Given the description of an element on the screen output the (x, y) to click on. 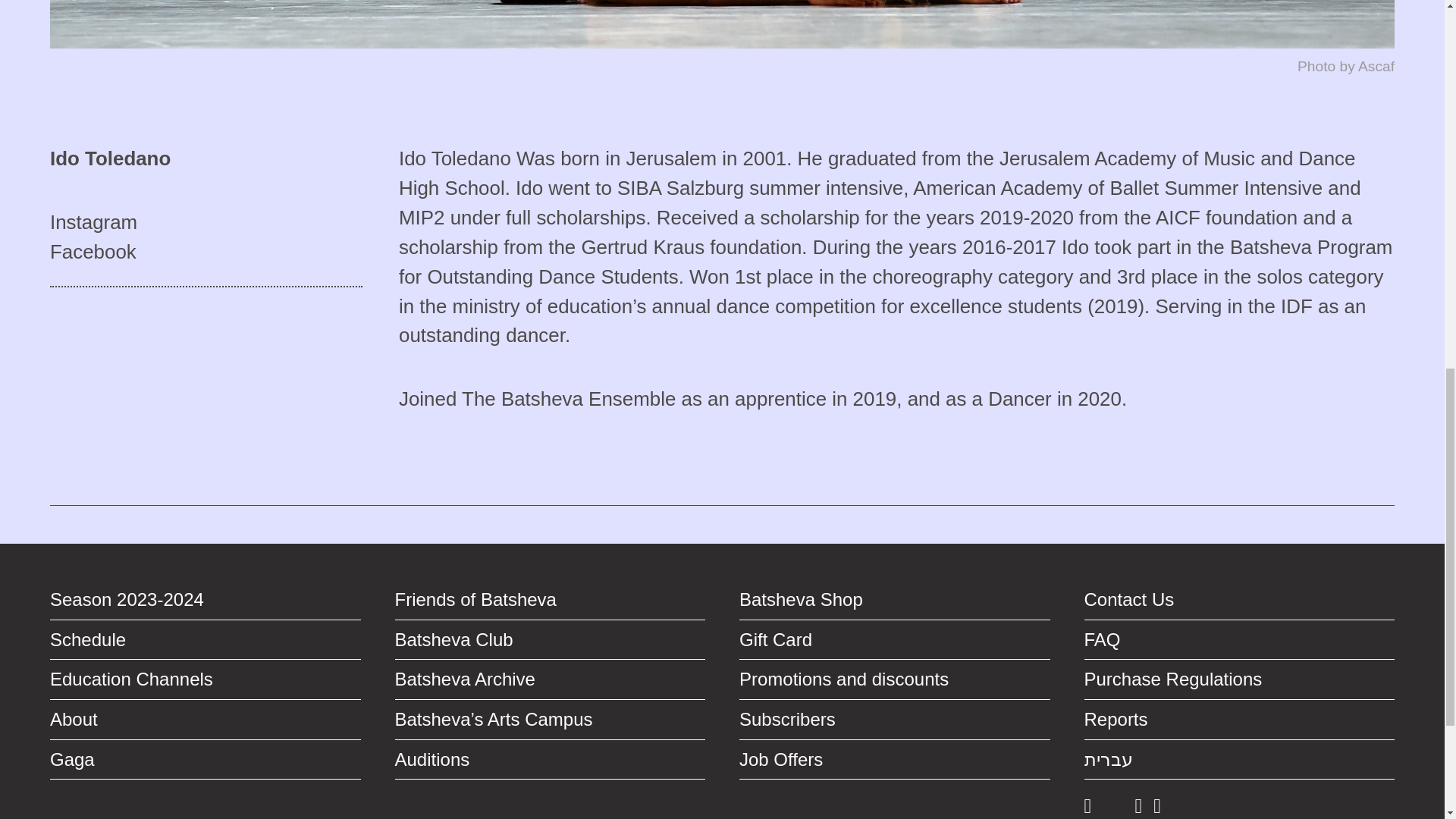
Facebook (205, 251)
Season 2023-2024 (205, 599)
Education Channels (205, 680)
Batsheva Club (549, 639)
Gift Card (894, 639)
Batsheva Archive (549, 680)
Auditions (549, 760)
About (205, 720)
Gaga (205, 760)
Batsheva Shop (894, 599)
Instagram (205, 222)
Subscribers (894, 720)
Promotions and discounts (894, 680)
Friends of Batsheva (549, 599)
Schedule (205, 639)
